Given the description of an element on the screen output the (x, y) to click on. 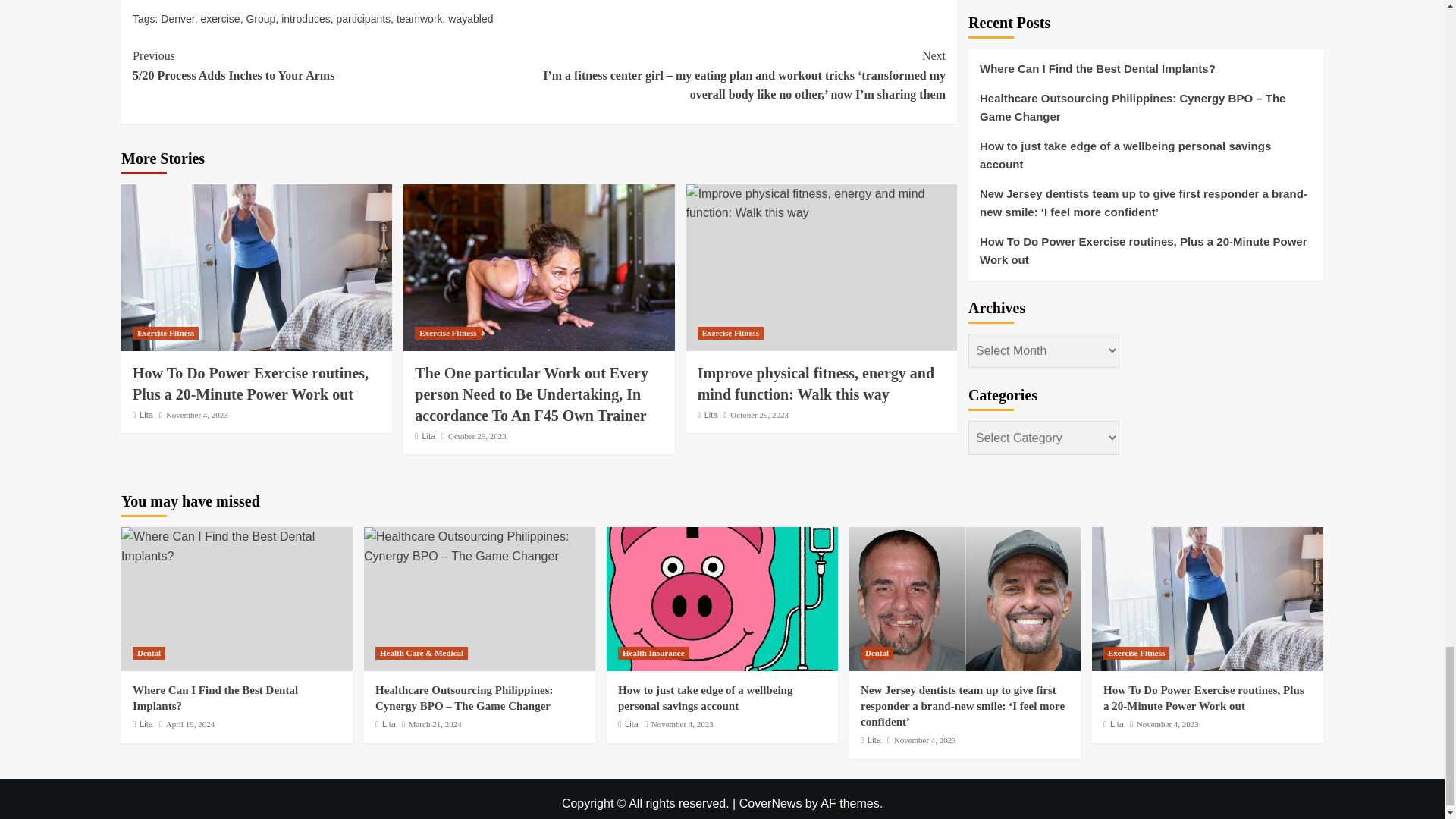
November 4, 2023 (196, 414)
Exercise Fitness (447, 332)
teamwork (419, 19)
Group (260, 19)
Lita (145, 414)
Exercise Fitness (165, 332)
introduces (305, 19)
participants (363, 19)
Where Can I Find the Best Dental Implants? (236, 546)
